Given the description of an element on the screen output the (x, y) to click on. 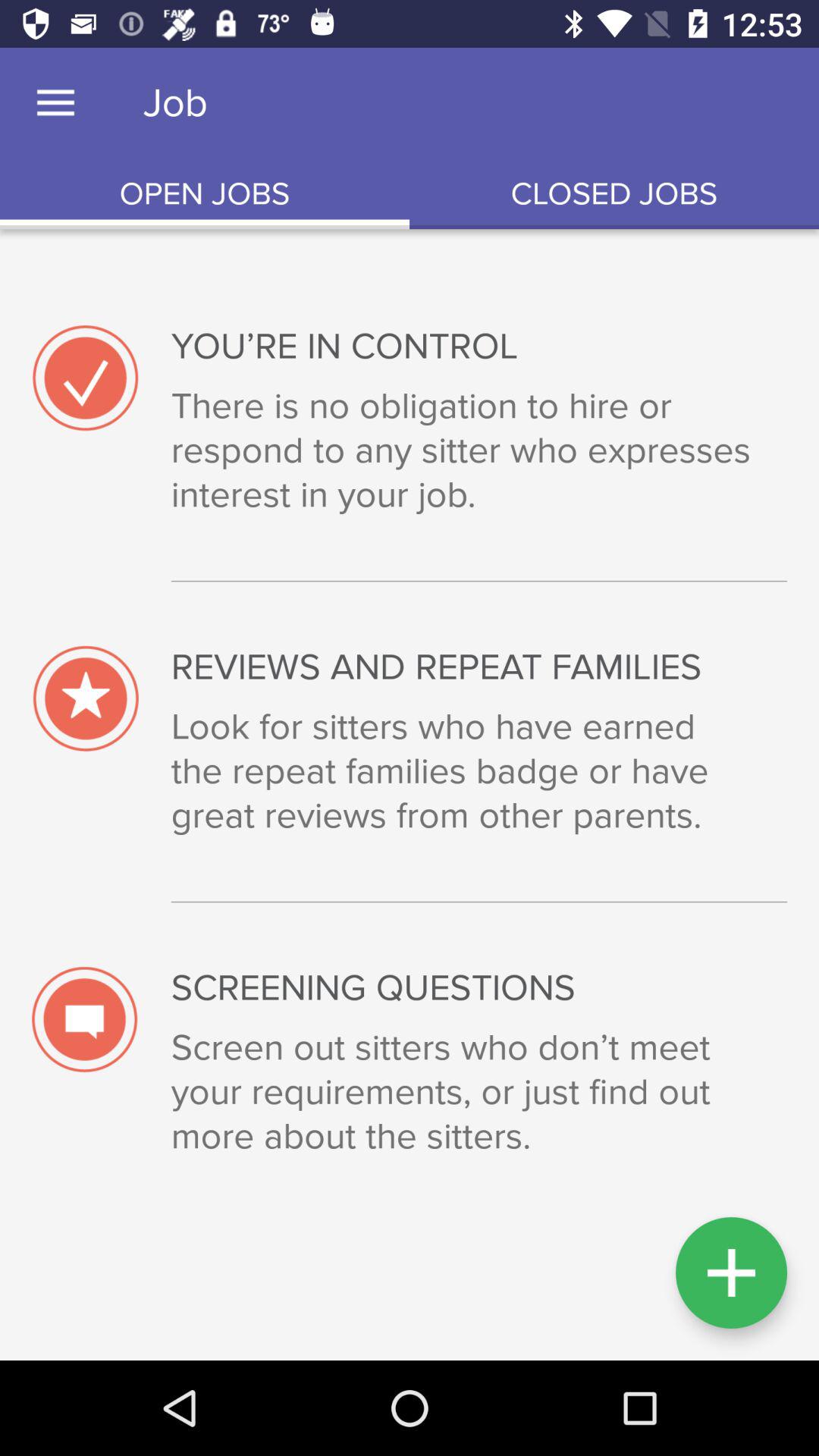
select the open jobs (204, 194)
